Given the description of an element on the screen output the (x, y) to click on. 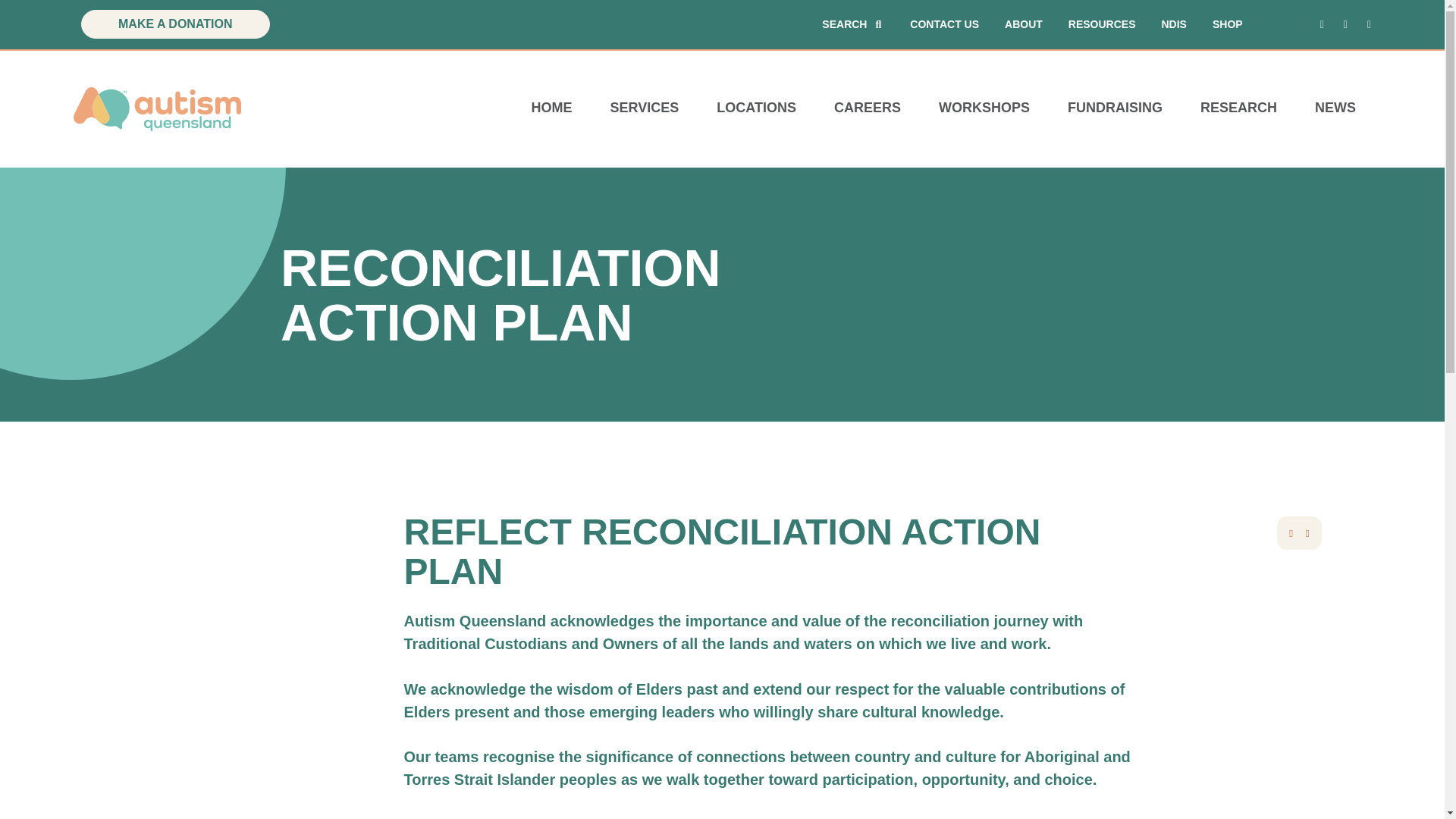
CAREERS (867, 107)
CONTACT US (944, 24)
SHOP (1227, 24)
LOCATIONS (756, 107)
FUNDRAISING (1114, 107)
NDIS (1173, 24)
SERVICES (644, 107)
SEARCH (851, 24)
WORKSHOPS (984, 107)
HOME (551, 107)
MAKE A DONATION (175, 23)
NEWS (1334, 107)
RESEARCH (1237, 107)
RESOURCES (1101, 24)
ABOUT (1023, 24)
